Given the description of an element on the screen output the (x, y) to click on. 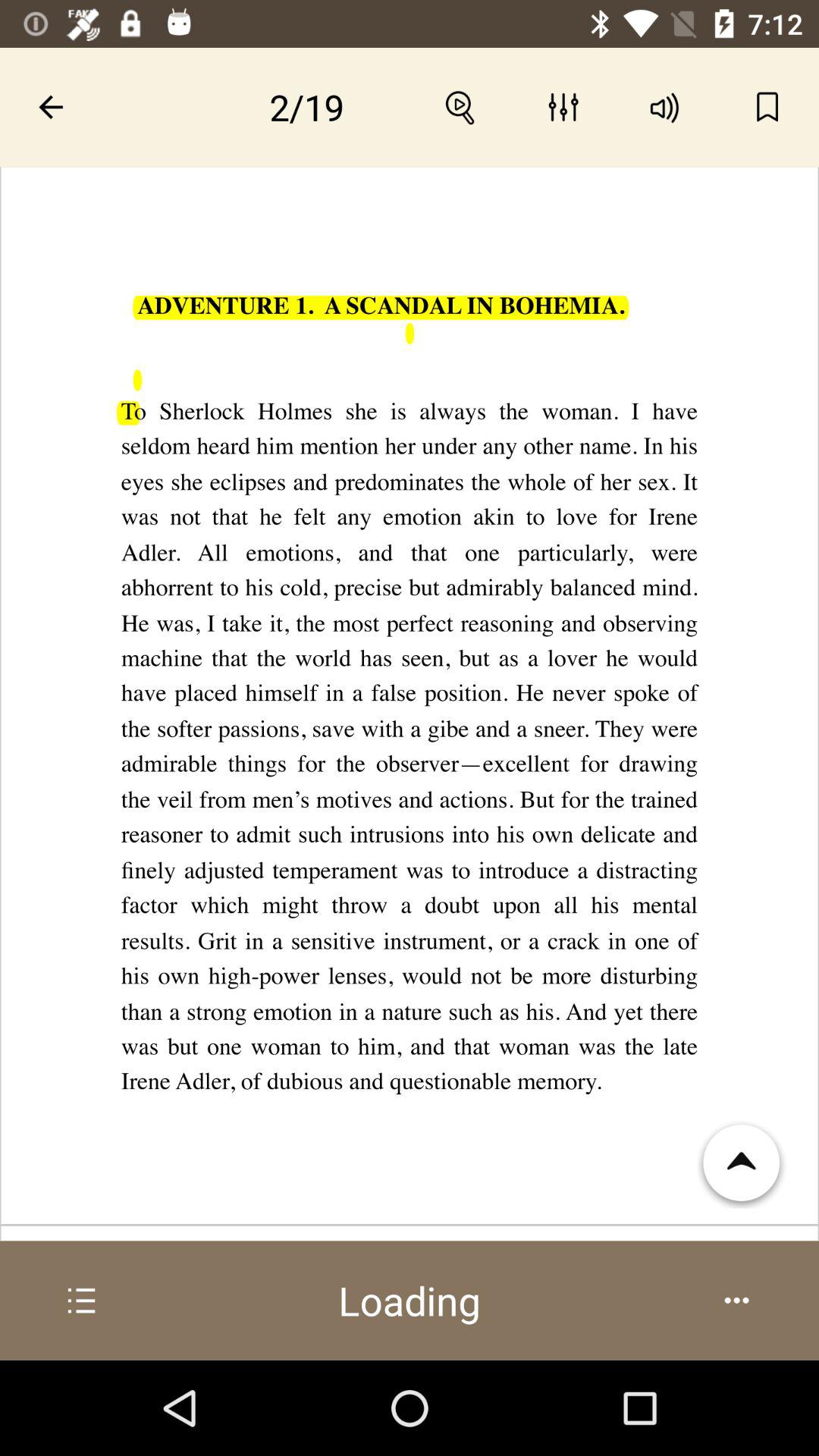
go back (51, 106)
